Given the description of an element on the screen output the (x, y) to click on. 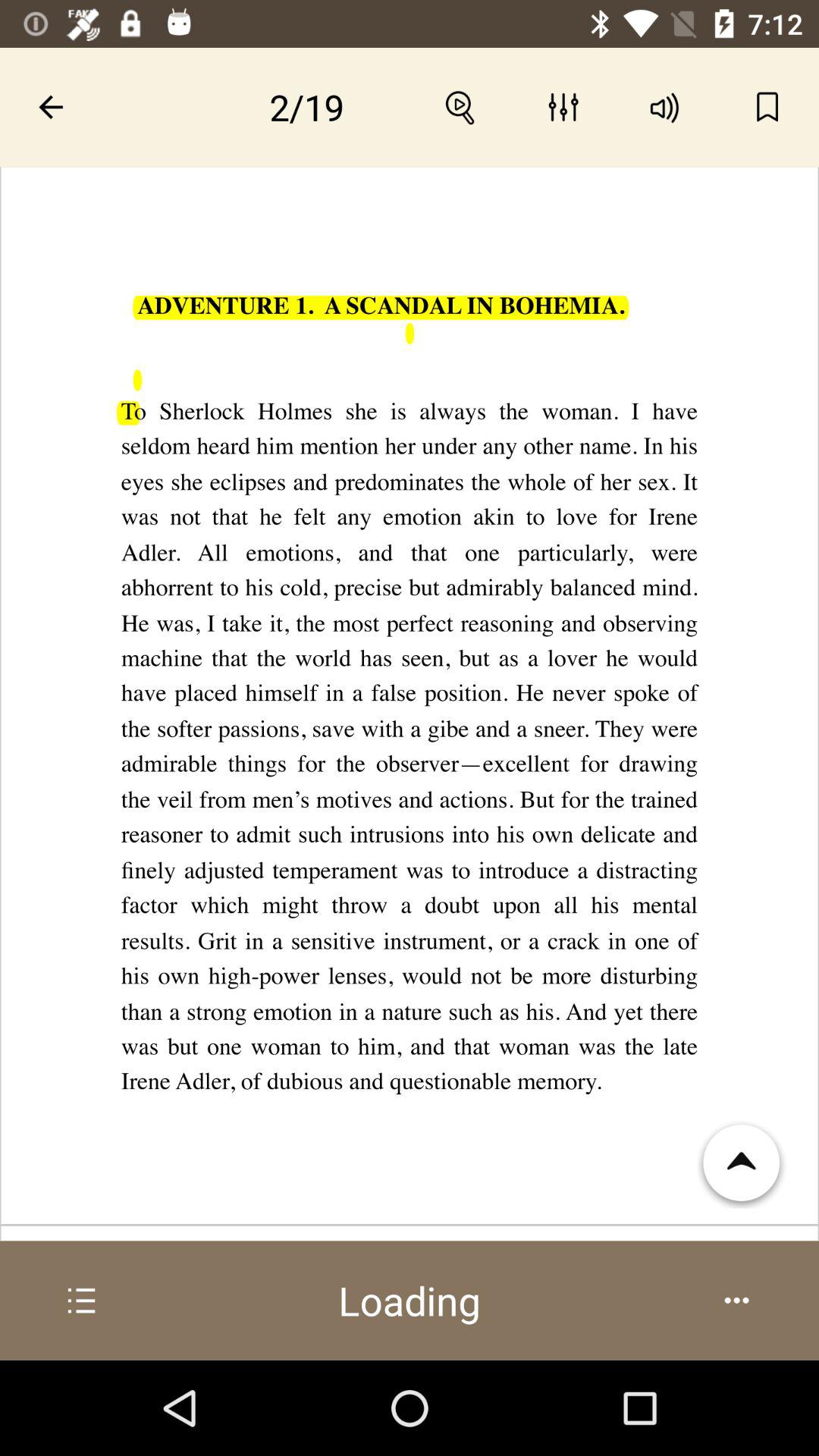
go back (51, 106)
